Given the description of an element on the screen output the (x, y) to click on. 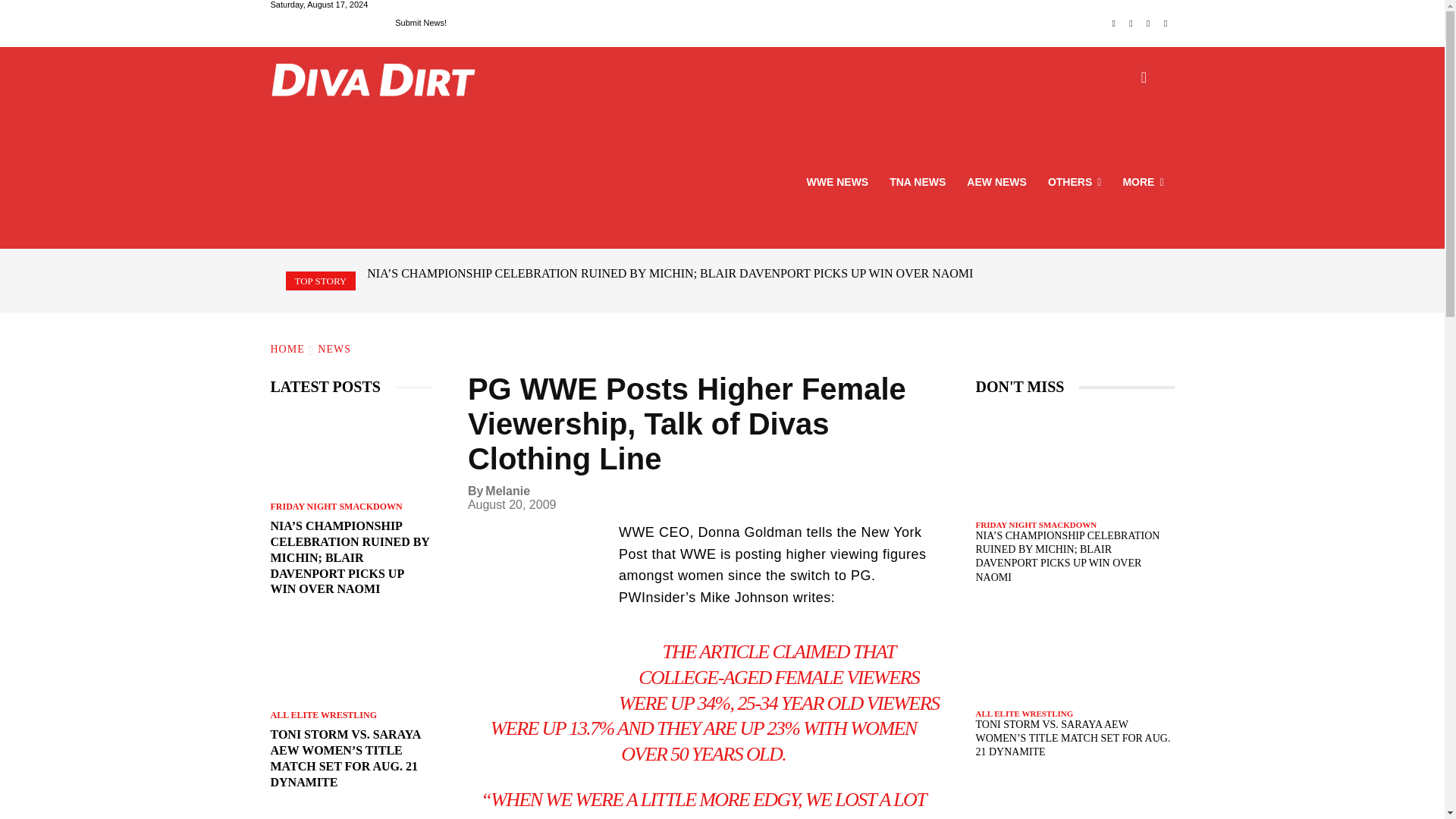
Youtube (1165, 23)
Twitter (1148, 23)
Facebook (1113, 23)
View all posts in News (333, 348)
Instagram (1131, 23)
